Given the description of an element on the screen output the (x, y) to click on. 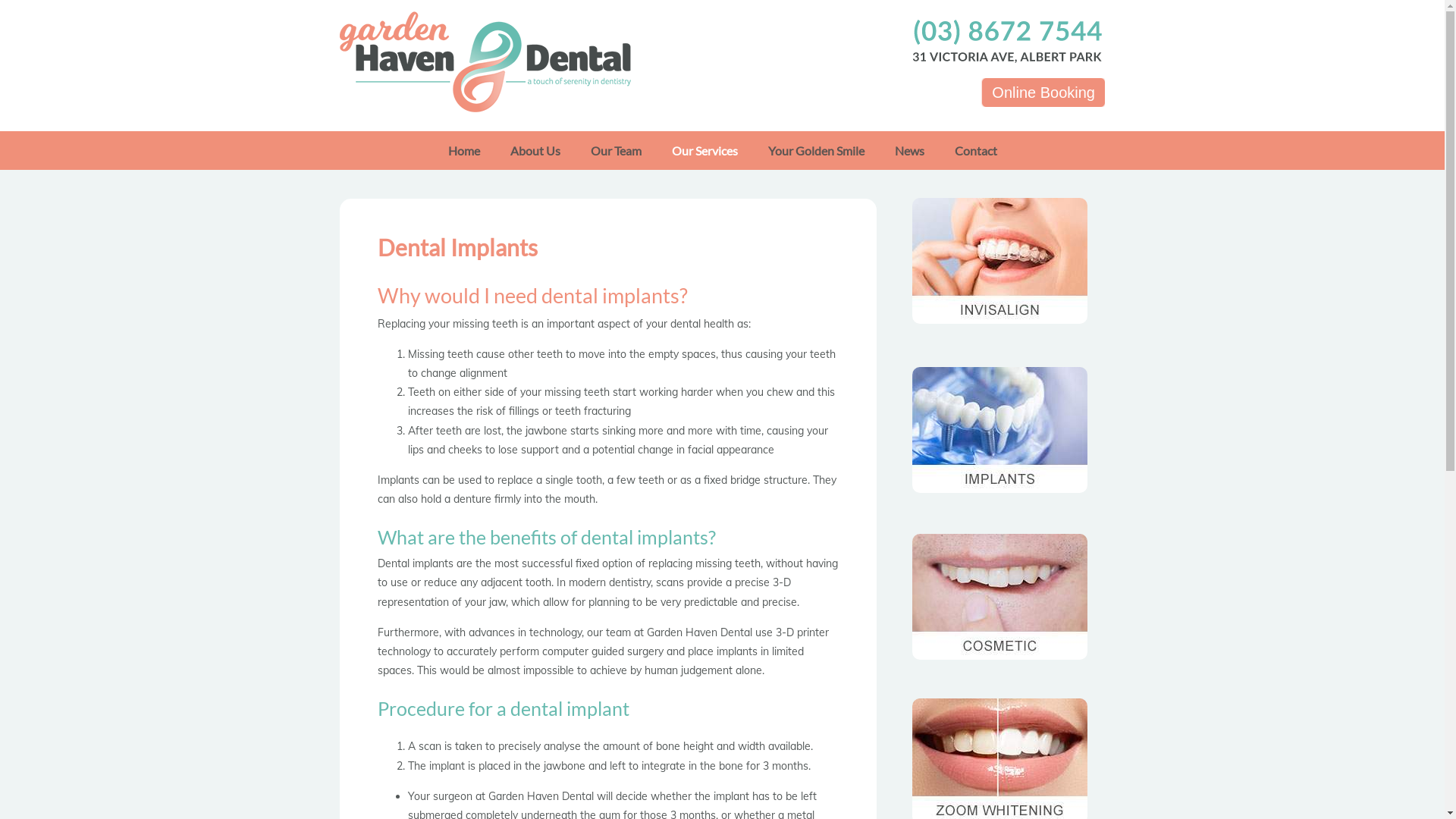
About Us Element type: text (534, 150)
Home Element type: text (463, 150)
Our Team Element type: text (614, 150)
Online Booking Element type: text (1043, 92)
Contact Element type: text (974, 150)
News Element type: text (909, 150)
Our Services Element type: text (704, 150)
Your Golden Smile Element type: text (815, 150)
